Given the description of an element on the screen output the (x, y) to click on. 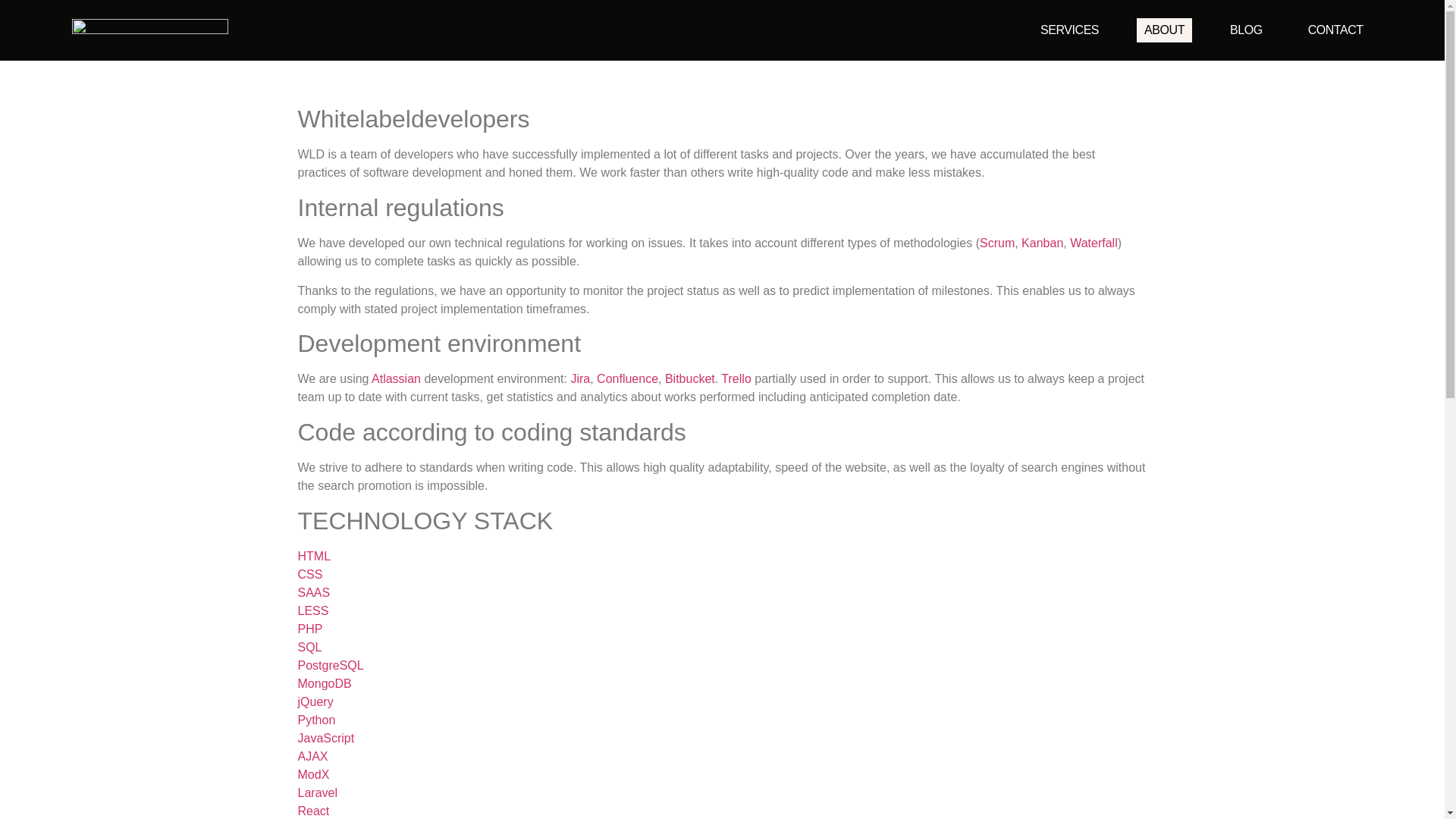
PostgreSQL (329, 665)
ModX (313, 774)
HTML (313, 555)
Trello (735, 378)
MongoDB (323, 683)
ABOUT (1164, 30)
SERVICES (1069, 30)
CSS (309, 574)
Bitbucket (689, 378)
Confluence (627, 378)
Waterfall (1094, 242)
SQL (309, 646)
Kanban (1042, 242)
BLOG (1246, 30)
SAAS (313, 592)
